Given the description of an element on the screen output the (x, y) to click on. 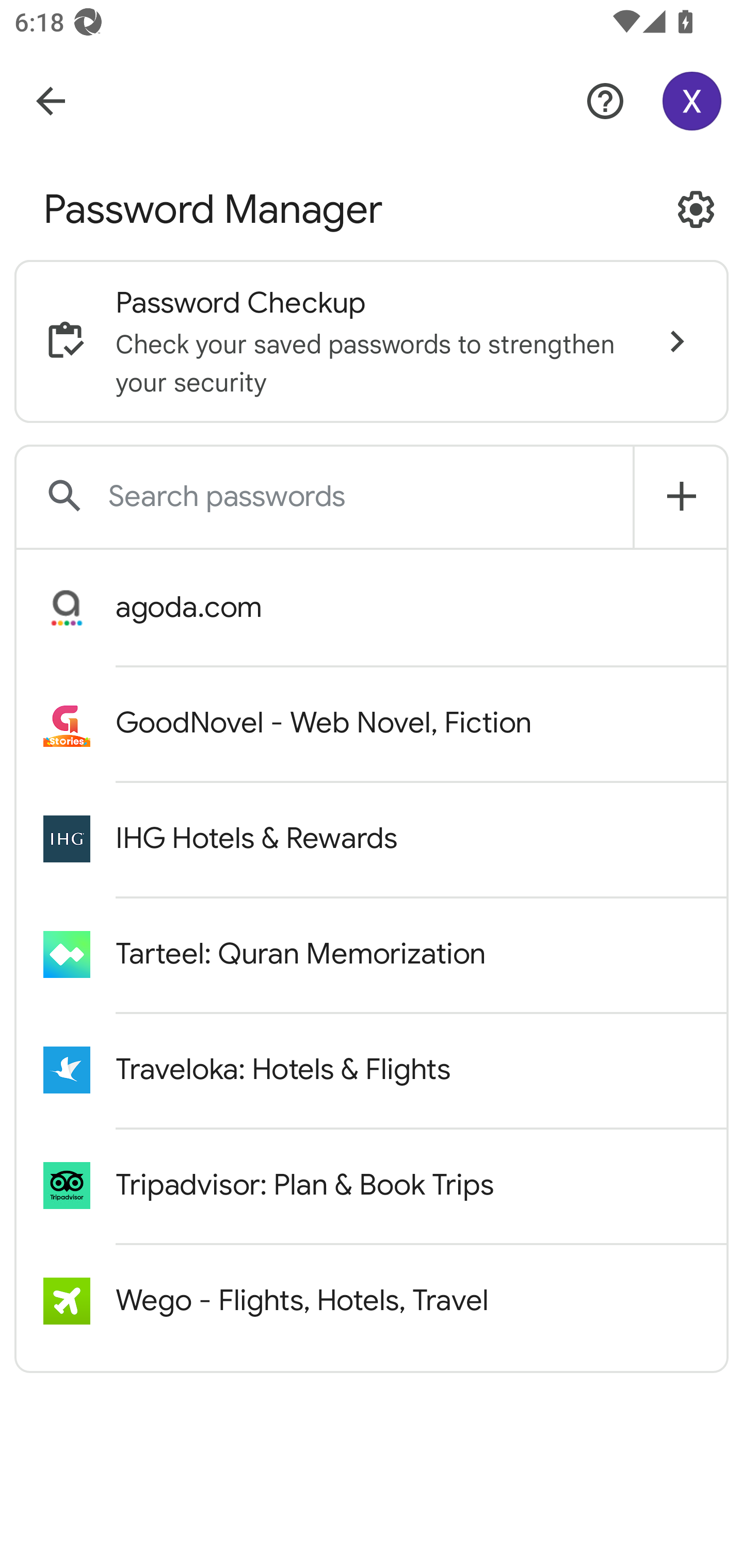
Navigate up (50, 101)
Displays the avatar image for the current account. (697, 101)
Settings (696, 209)
Search Search passwords Add password (371, 497)
Add password (681, 496)
agoda.com (371, 607)
GoodNovel - Web Novel, Fiction (371, 722)
IHG Hotels & Rewards (371, 838)
Tarteel: Quran Memorization (371, 953)
Traveloka: Hotels & Flights (371, 1069)
Tripadvisor: Plan & Book Trips (371, 1185)
Wego - Flights, Hotels, Travel (371, 1300)
